Given the description of an element on the screen output the (x, y) to click on. 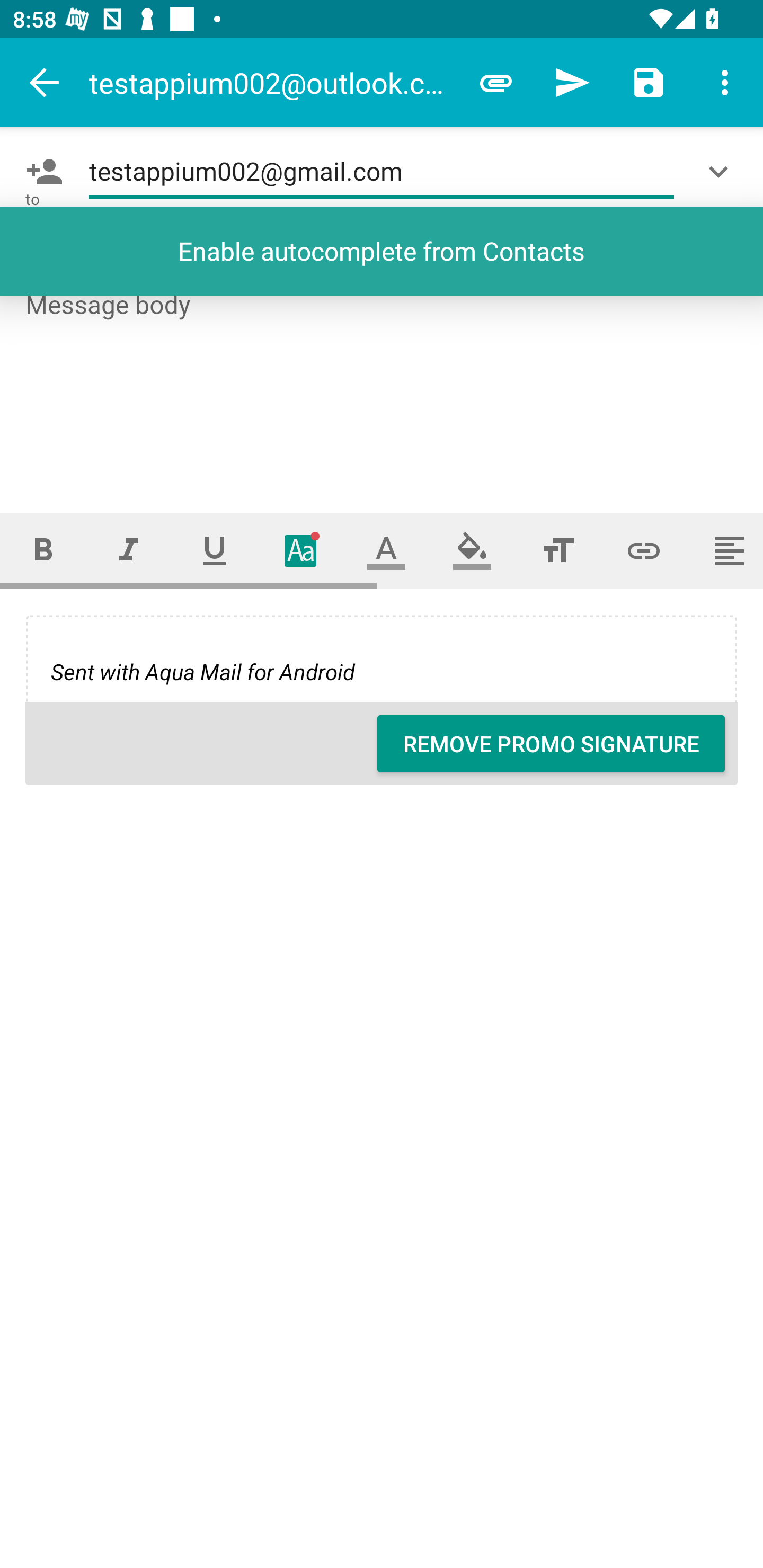
Navigate up (44, 82)
testappium002@outlook.com (273, 82)
Attach (495, 82)
Send (572, 82)
Save (648, 82)
More options (724, 81)
Pick contact: To (41, 171)
Show/Add CC/BCC (721, 171)
testappium002@gmail.com (381, 171)
Message subject (381, 249)
Message body (381, 385)
Bold (42, 550)
Italic (128, 550)
Underline (214, 550)
Typeface (font) (300, 550)
Text color (385, 550)
Fill color (471, 550)
Font size (558, 550)
Set link (643, 550)
Align left (724, 550)
REMOVE PROMO SIGNATURE (550, 744)
